Given the description of an element on the screen output the (x, y) to click on. 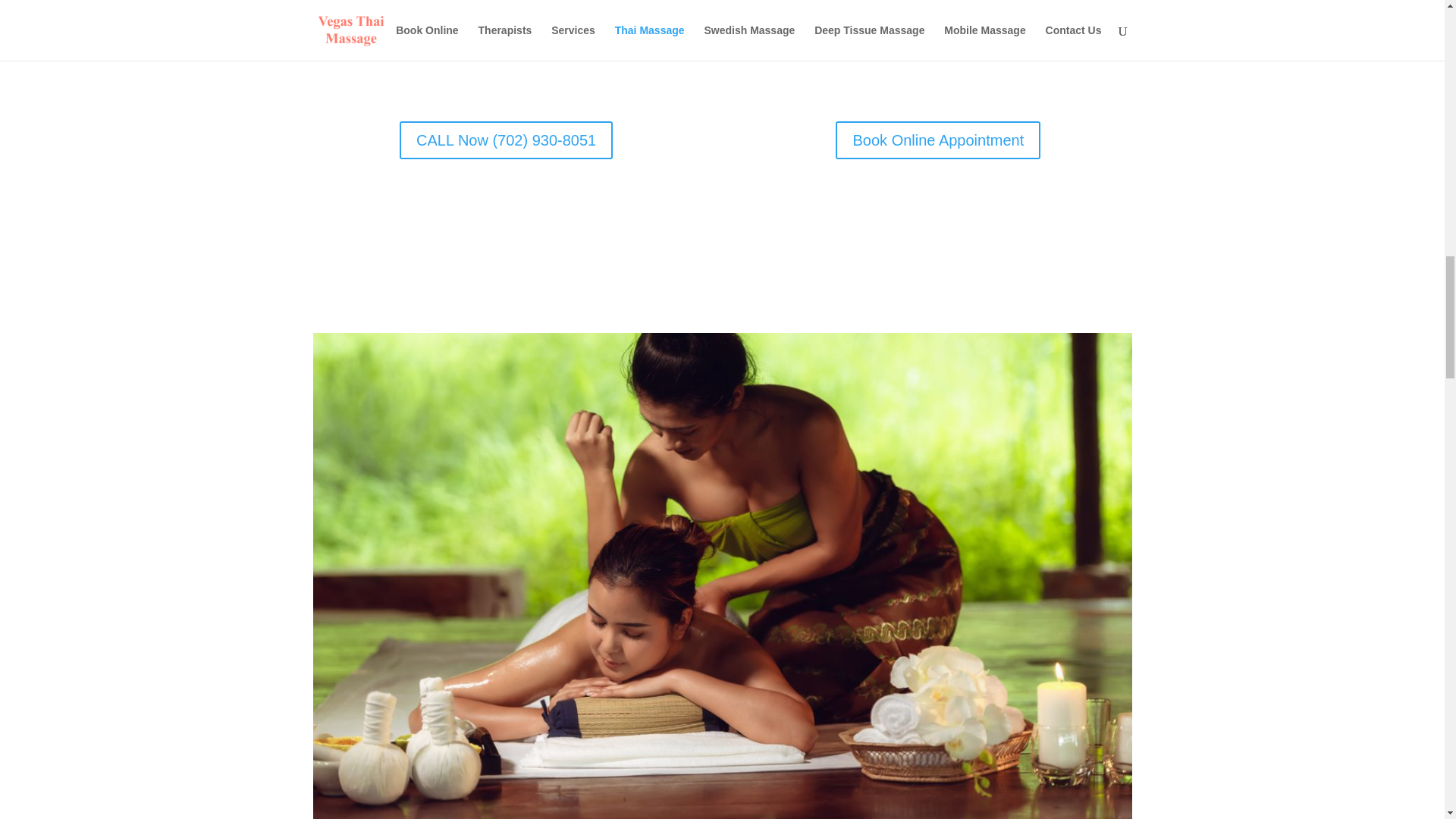
massage-table-in-las-vegas-hotel-room (1009, 3)
Book Online Appointment (938, 139)
